Given the description of an element on the screen output the (x, y) to click on. 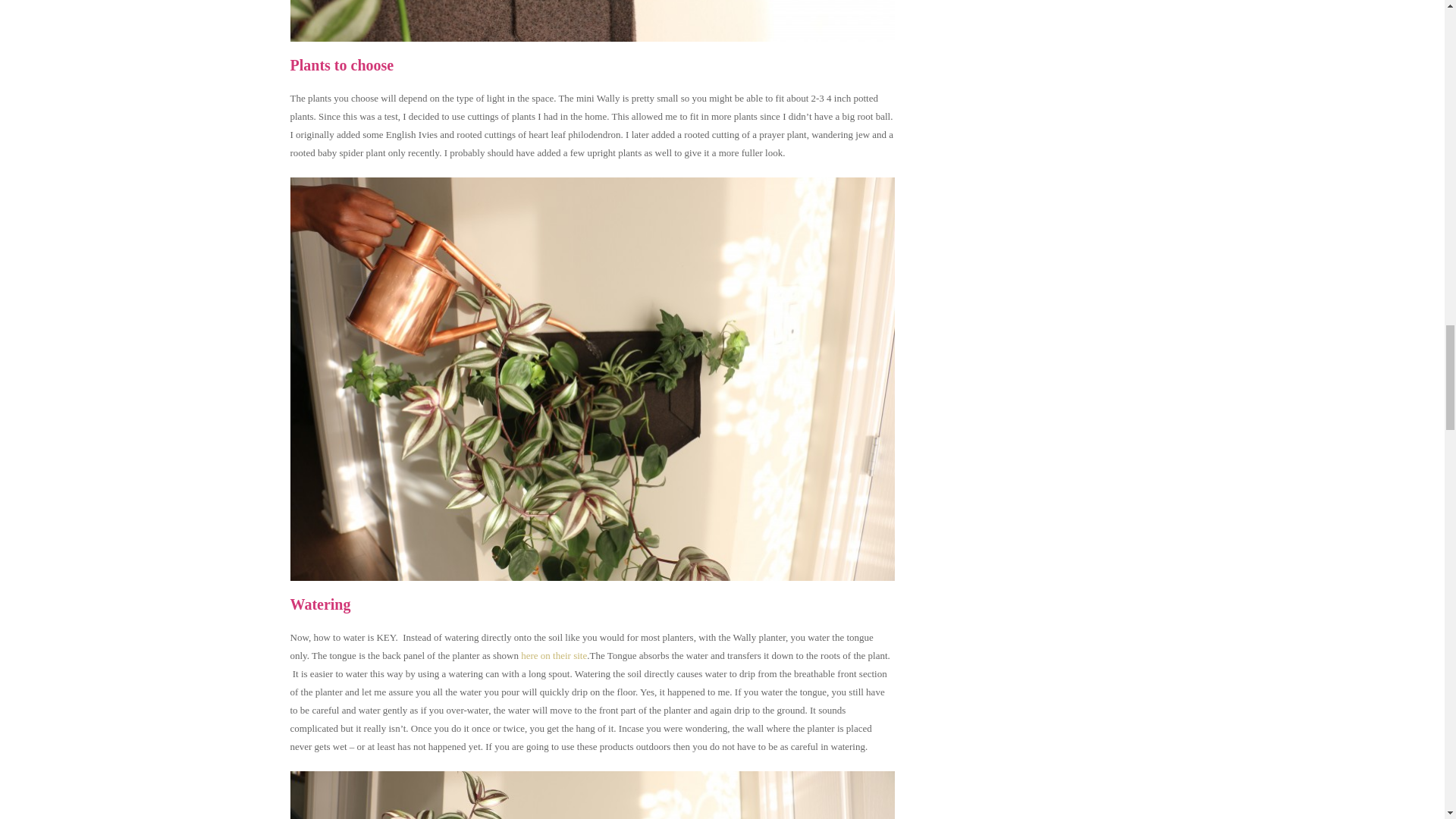
here on their site (553, 655)
